Given the description of an element on the screen output the (x, y) to click on. 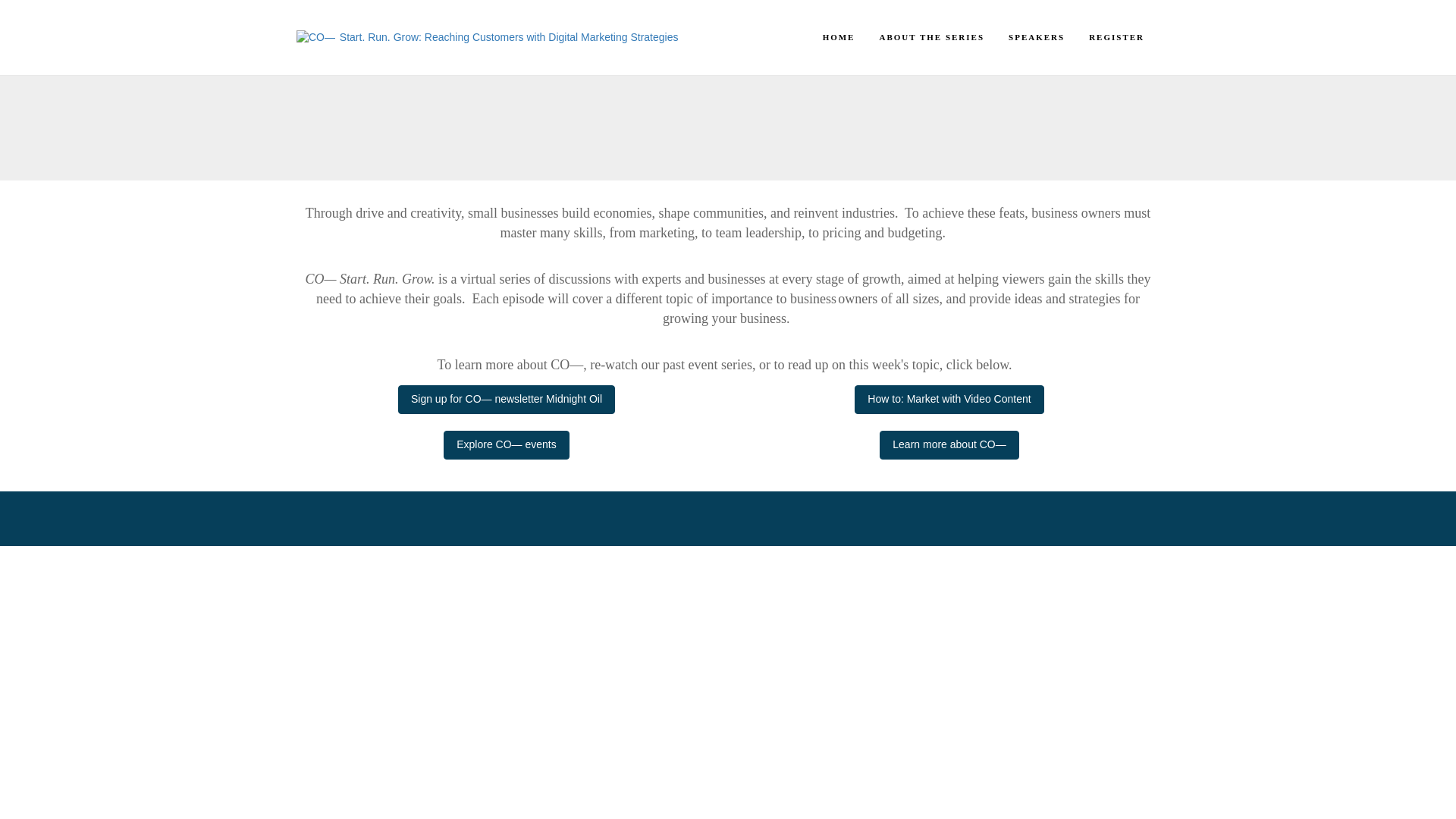
SPEAKERS (1036, 37)
HOME (838, 37)
How to: Market with Video Content (948, 399)
ABOUT THE SERIES (931, 37)
REGISTER (1116, 37)
